Given the description of an element on the screen output the (x, y) to click on. 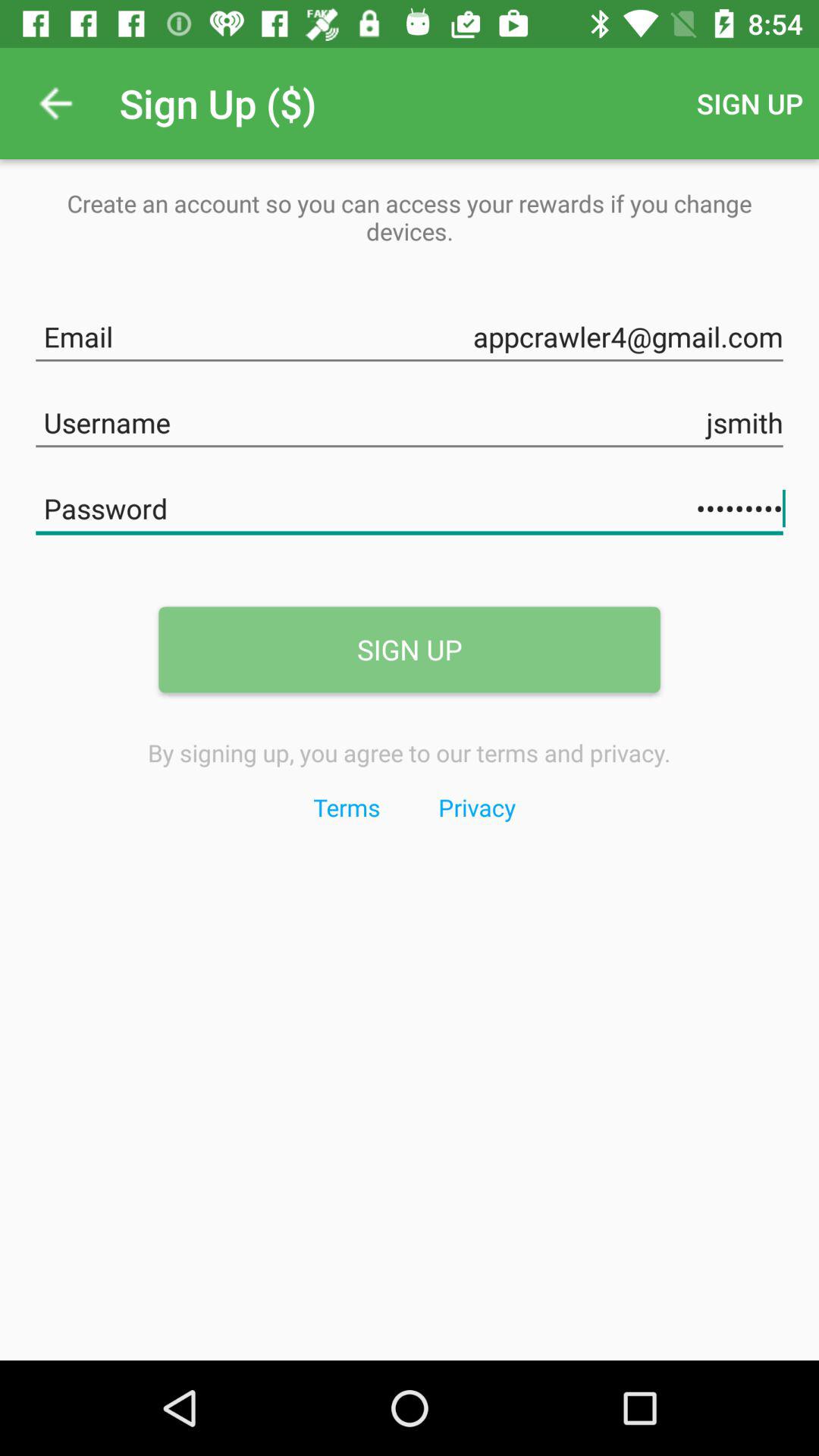
turn off the app to the left of sign up ($) app (55, 103)
